Given the description of an element on the screen output the (x, y) to click on. 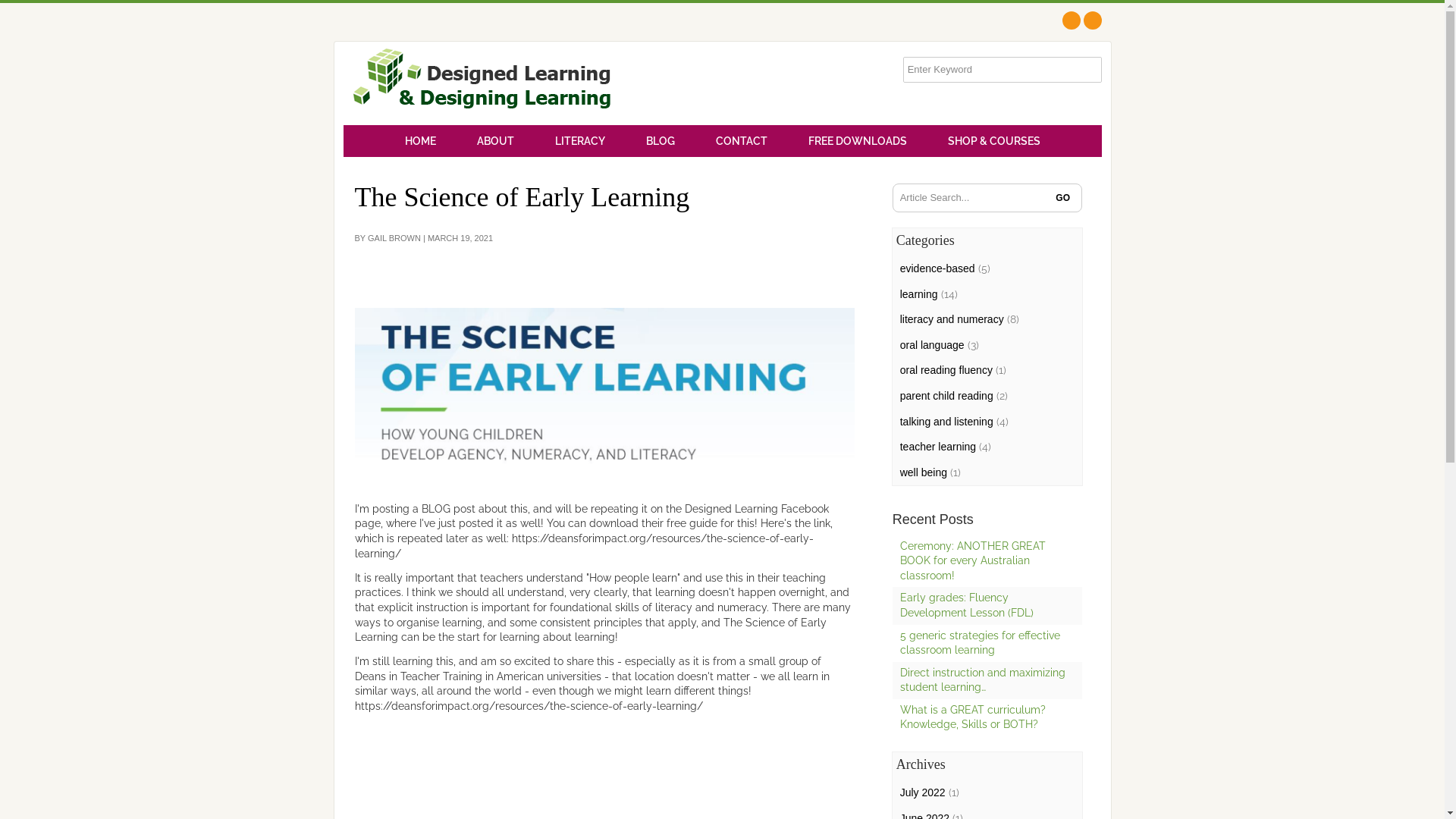
5 generic strategies for effective classroom learning Element type: text (980, 642)
evidence-based Element type: text (937, 268)
talking and listening Element type: text (946, 421)
Early grades: Fluency Development Lesson (FDL) Element type: text (966, 604)
The Science of Early Learning Element type: hover (604, 394)
ABOUT Element type: text (495, 140)
oral reading fluency Element type: text (946, 370)
HOME Element type: text (419, 140)
FREE DOWNLOADS Element type: text (856, 140)
BLOG Element type: text (659, 140)
GO Element type: text (1062, 197)
oral language Element type: text (932, 344)
July 2022 Element type: text (922, 792)
learning Element type: text (919, 294)
Designed Learning & Designing Learning Element type: hover (481, 83)
literacy and numeracy Element type: text (952, 319)
teacher learning Element type: text (937, 446)
Ceremony: ANOTHER GREAT BOOK for every Australian classroom! Element type: text (972, 560)
What is a GREAT curriculum? Knowledge, Skills or BOTH? Element type: text (972, 717)
well being Element type: text (923, 472)
parent child reading Element type: text (946, 395)
CONTACT Element type: text (740, 140)
SHOP & COURSES Element type: text (993, 140)
LITERACY Element type: text (579, 140)
